Given the description of an element on the screen output the (x, y) to click on. 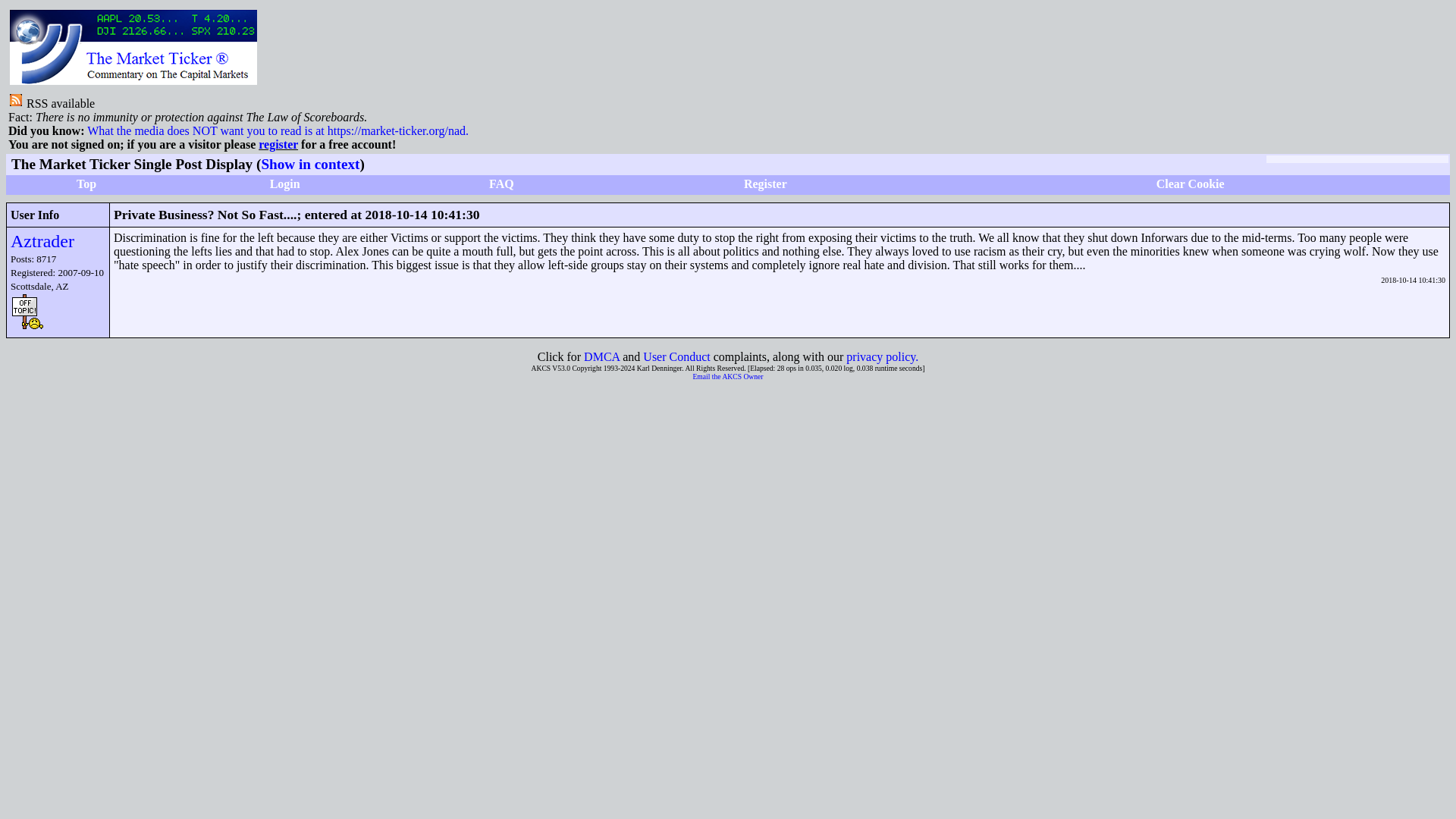
Clear Cookie (1190, 183)
DMCA (601, 356)
privacy policy. (881, 356)
Top (86, 183)
register (278, 144)
Login (284, 183)
User Conduct (676, 356)
Aztrader (42, 240)
Show in context (309, 163)
Register (765, 183)
